Given the description of an element on the screen output the (x, y) to click on. 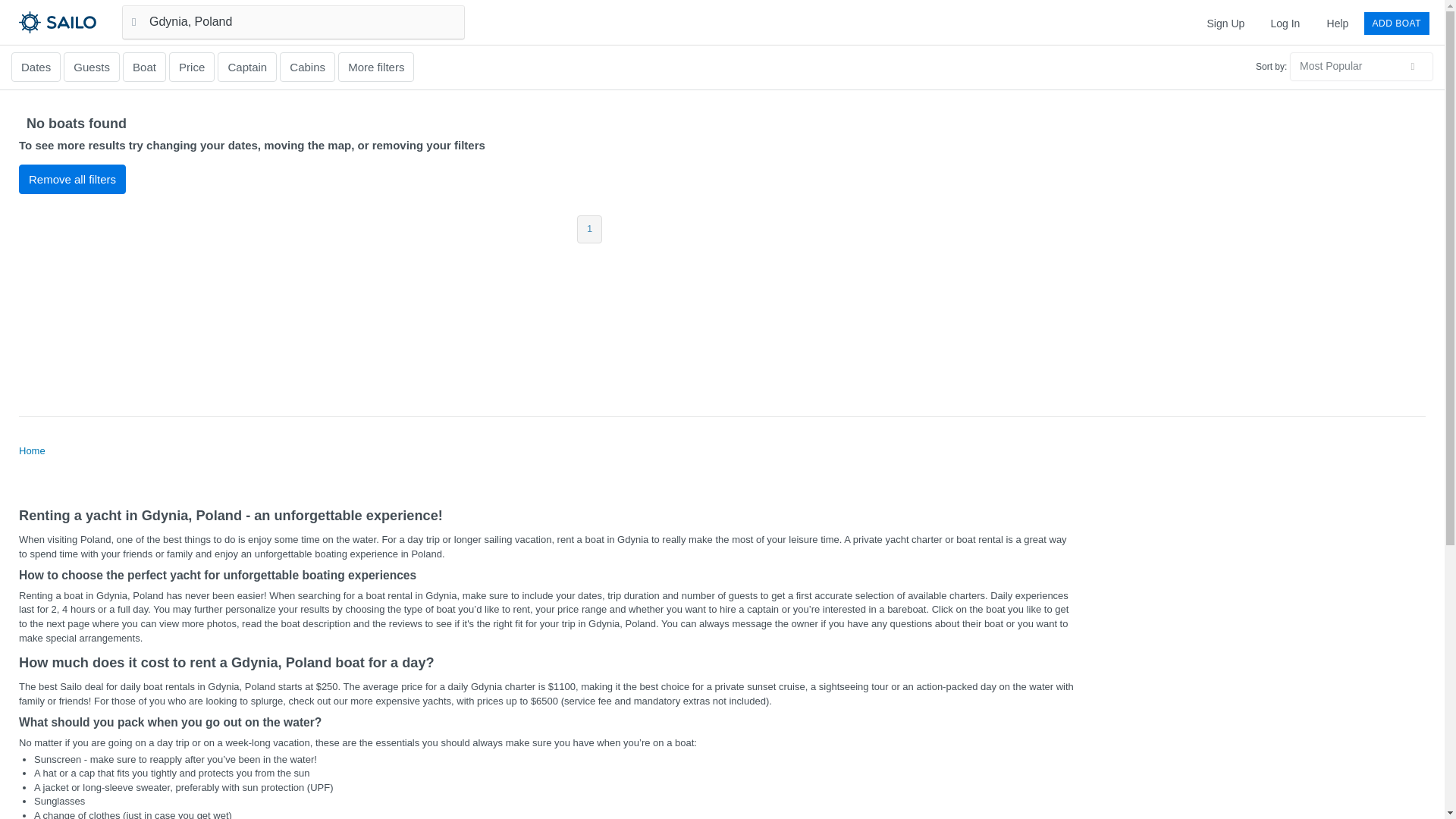
Sailo logo text (84, 21)
Sign Up (1225, 23)
Log In (1285, 23)
ADD BOAT (1396, 23)
Gdynia, Poland (293, 21)
Gdynia, Poland (293, 21)
Help (1337, 23)
